Given the description of an element on the screen output the (x, y) to click on. 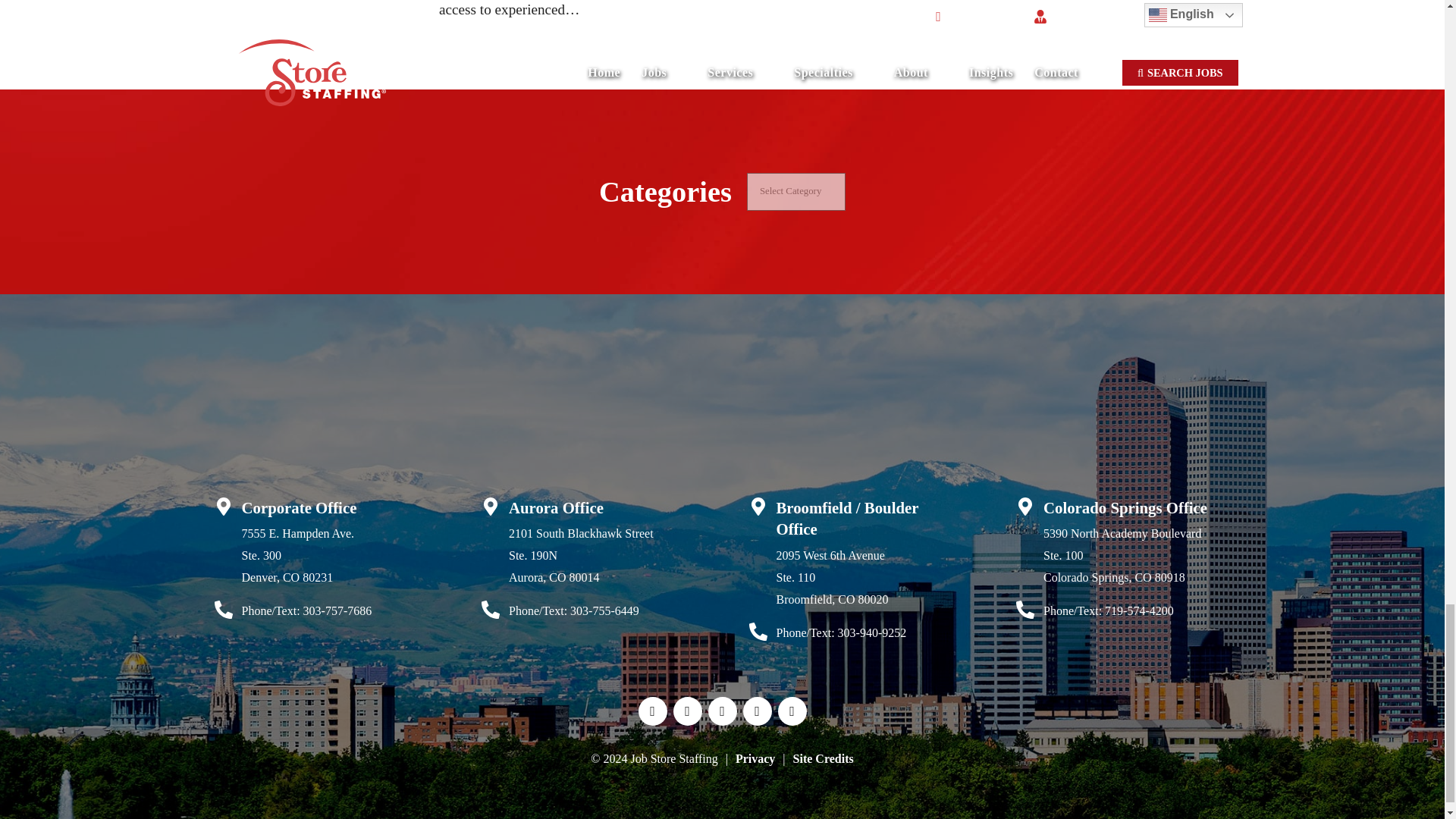
Follow Job Store Staffing on Instagram (756, 710)
Follow Job Store Staffing on Facebook (652, 710)
Connect with Job Store Staffing on LinkedIn (686, 710)
Subscribe to Job Store Staffing on YouTube (721, 710)
Follow Job Store Staffing on TikTok (791, 710)
